Given the description of an element on the screen output the (x, y) to click on. 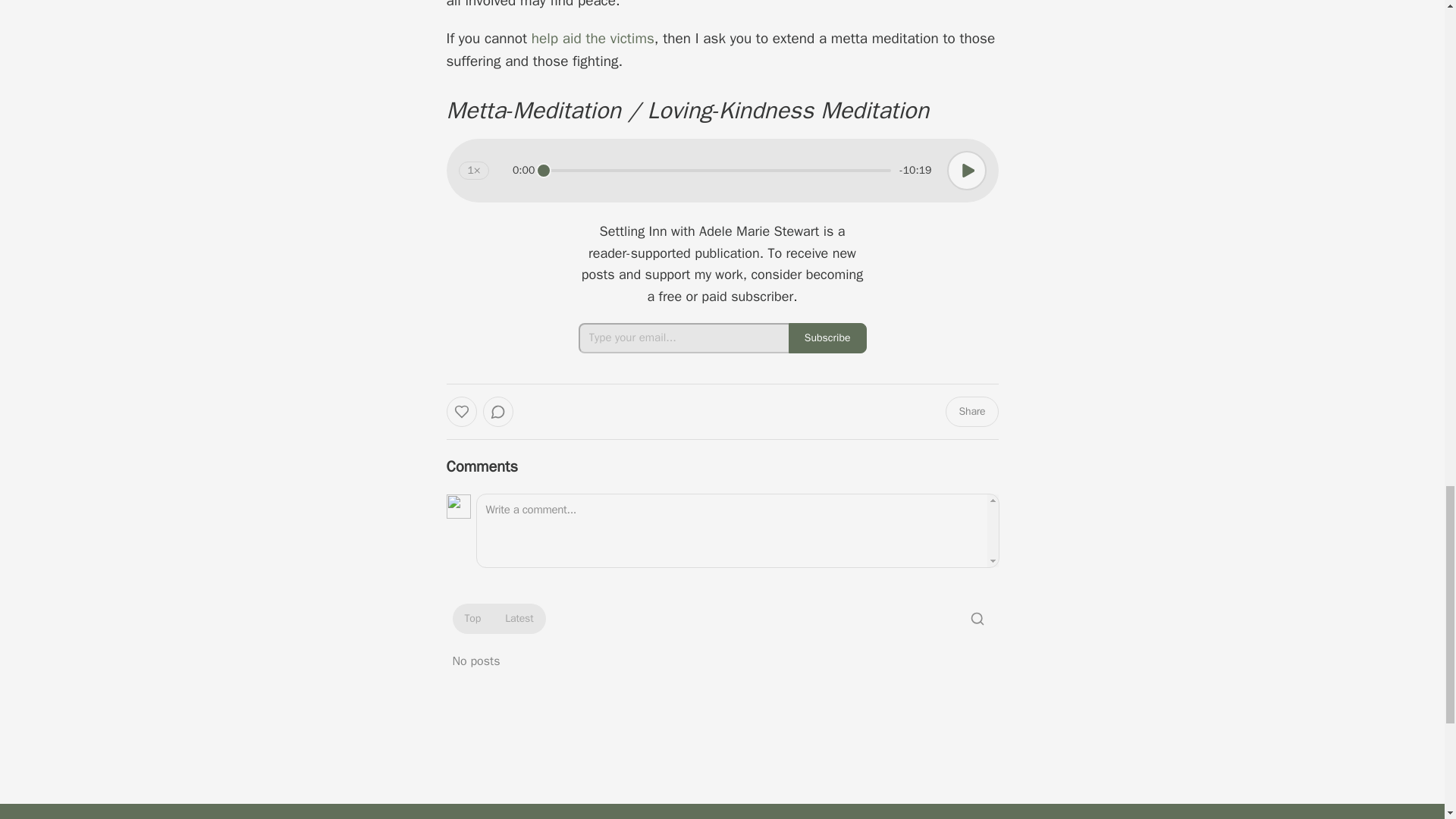
Share (970, 411)
Subscribe (827, 337)
Latest (518, 618)
help aid the victims (592, 38)
Top (471, 618)
